Given the description of an element on the screen output the (x, y) to click on. 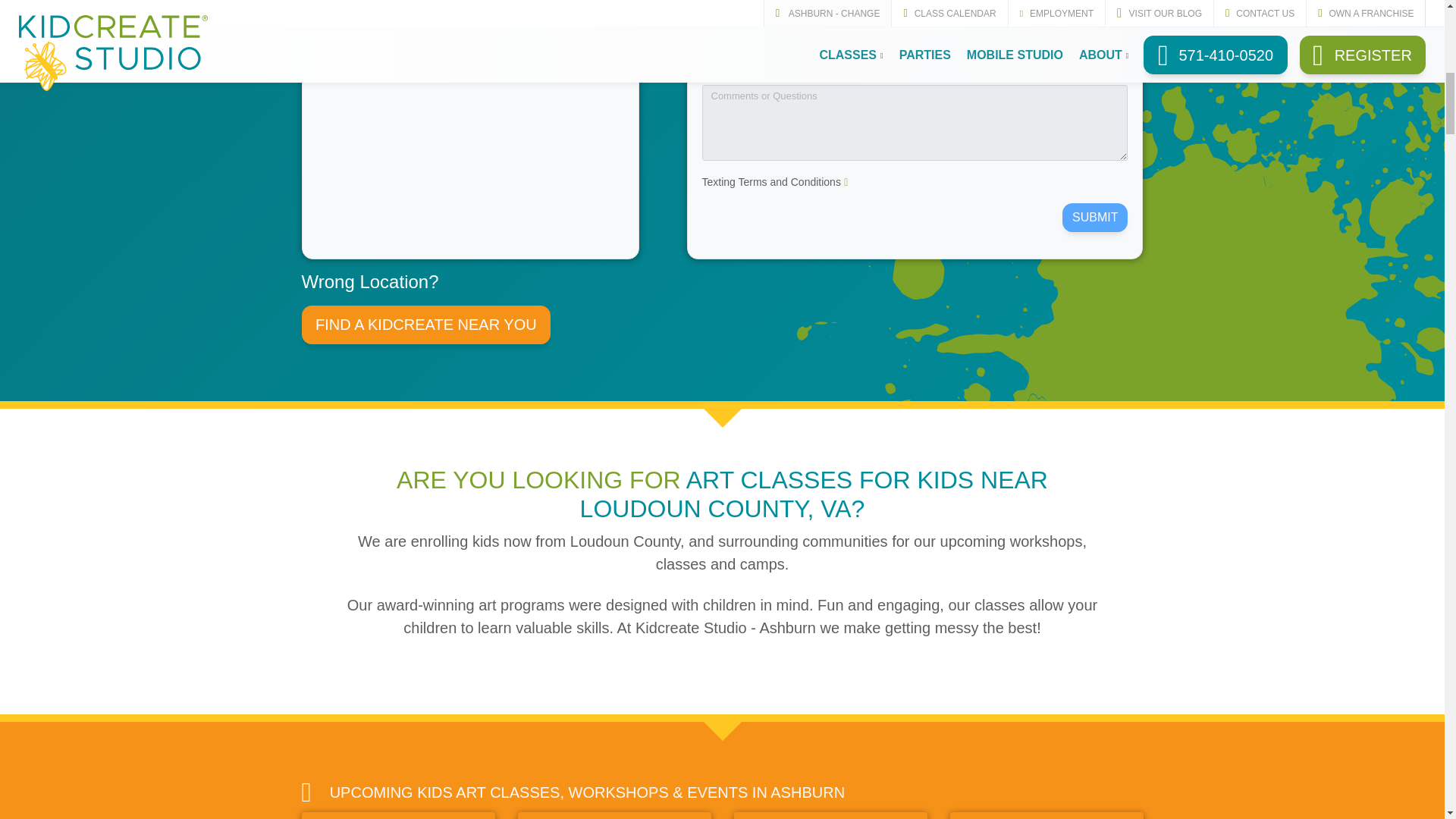
First Name (806, 11)
Email (806, 53)
Comments or Questions (914, 122)
Last Name (1021, 11)
Phone (1021, 53)
